Given the description of an element on the screen output the (x, y) to click on. 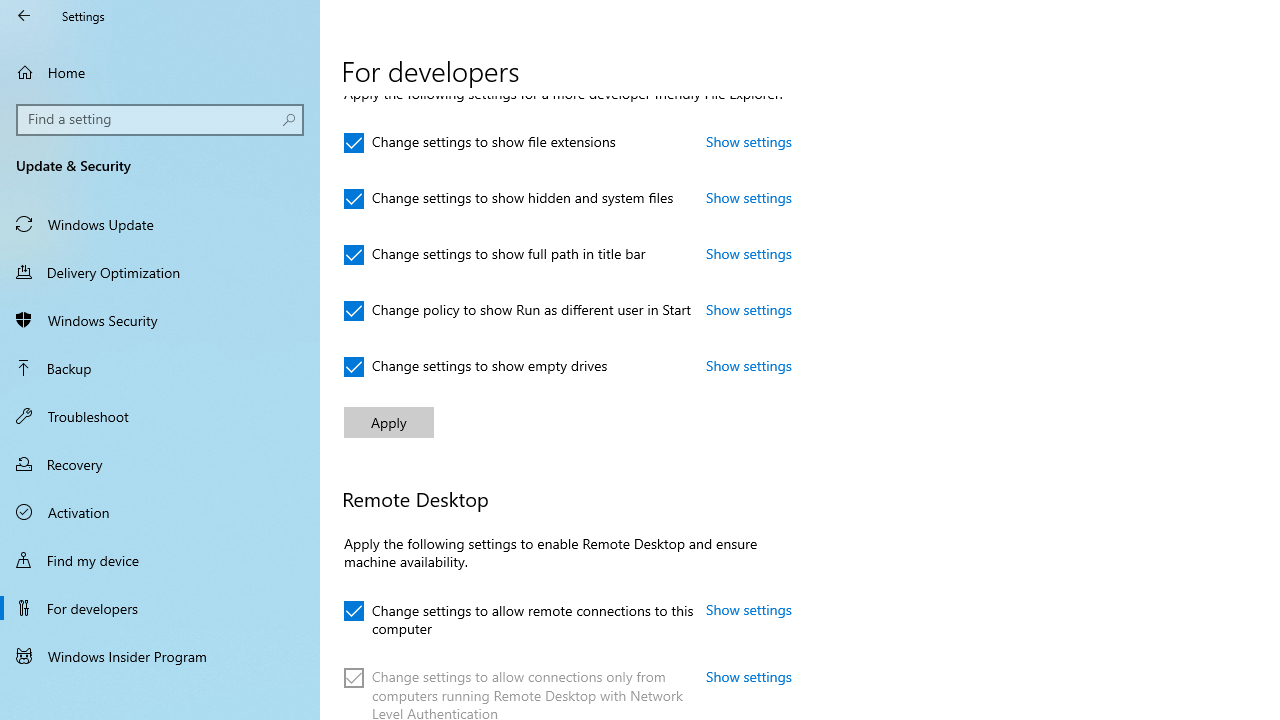
Windows Update (160, 223)
Change settings to show file extensions (479, 142)
For developers (160, 607)
Windows Security (160, 319)
Change settings to show hidden and system files (509, 198)
Search box, Find a setting (160, 119)
Change settings to allow remote connections to this computer (518, 615)
Change settings to show empty drives (476, 367)
Delivery Optimization (160, 271)
Apply (388, 421)
Recovery (160, 463)
